Given the description of an element on the screen output the (x, y) to click on. 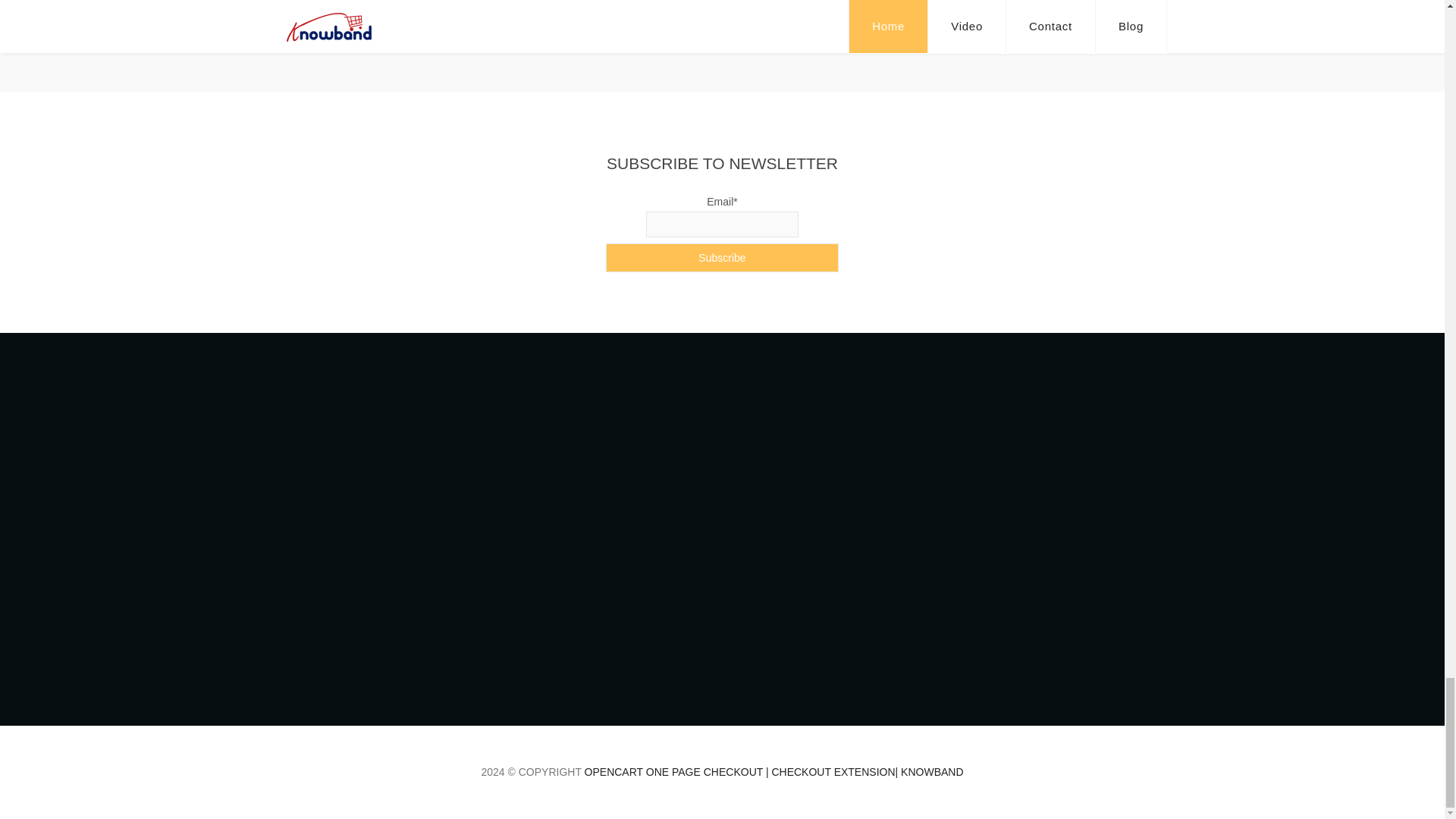
Subscribe (721, 257)
Subscribe (721, 257)
Send Message (578, 728)
